Given the description of an element on the screen output the (x, y) to click on. 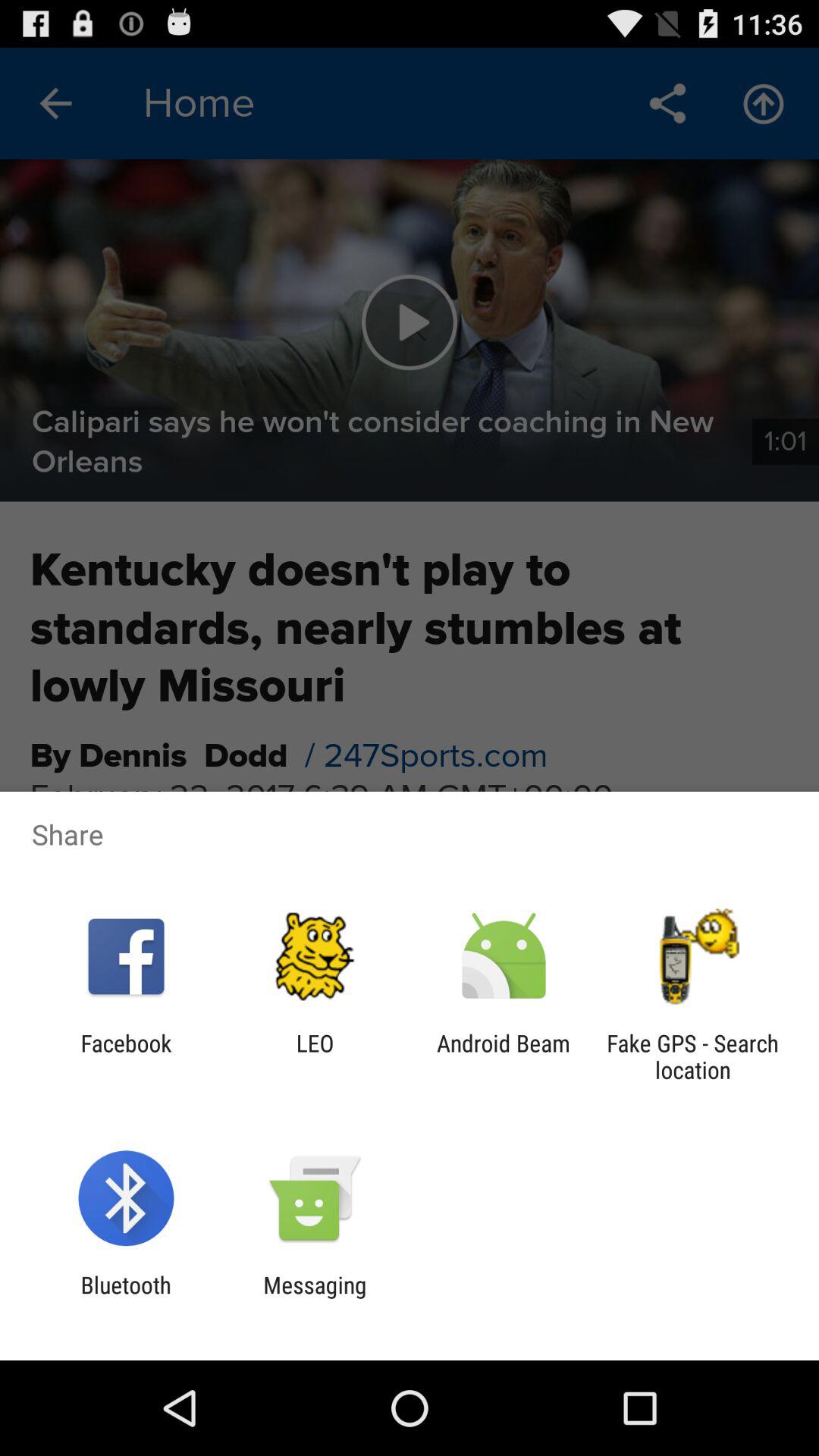
turn off the app to the left of the fake gps search icon (503, 1056)
